Given the description of an element on the screen output the (x, y) to click on. 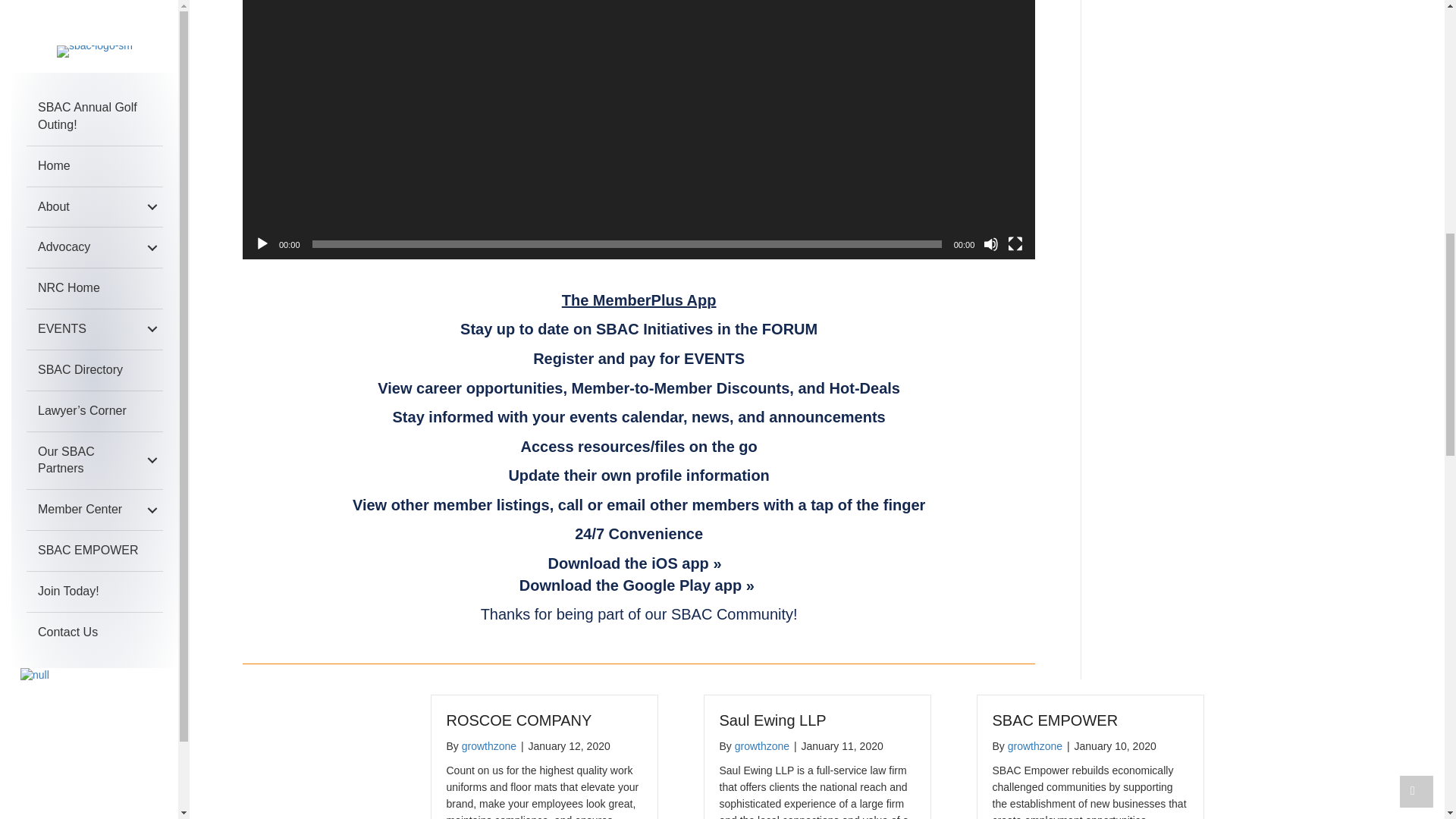
ROSCOE COMPANY (518, 719)
Play (261, 243)
SBAC EMPOWER (1054, 719)
Mute (991, 243)
Fullscreen (1015, 243)
Saul Ewing LLP (772, 719)
